Given the description of an element on the screen output the (x, y) to click on. 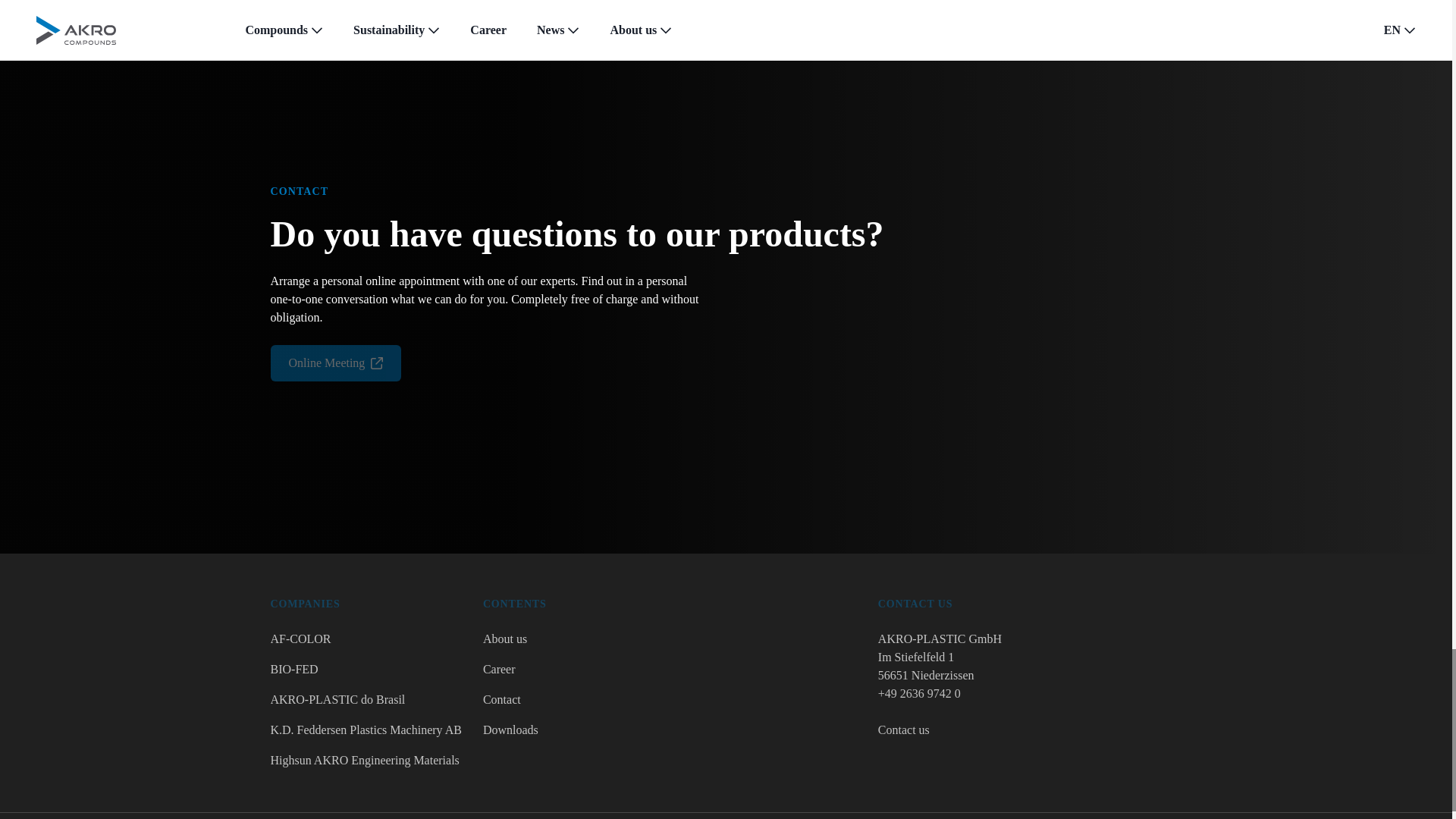
AKRO-PLASTIC do Brasil (365, 700)
Online Meeting (335, 362)
About us (515, 638)
Highsun AKRO Engineering Materials (365, 760)
Online Meeting (326, 362)
BIO-FED (365, 669)
Downloads (515, 730)
COMPANIES (365, 603)
K.D. Feddersen Plastics Machinery AB (365, 730)
Career (515, 669)
